Given the description of an element on the screen output the (x, y) to click on. 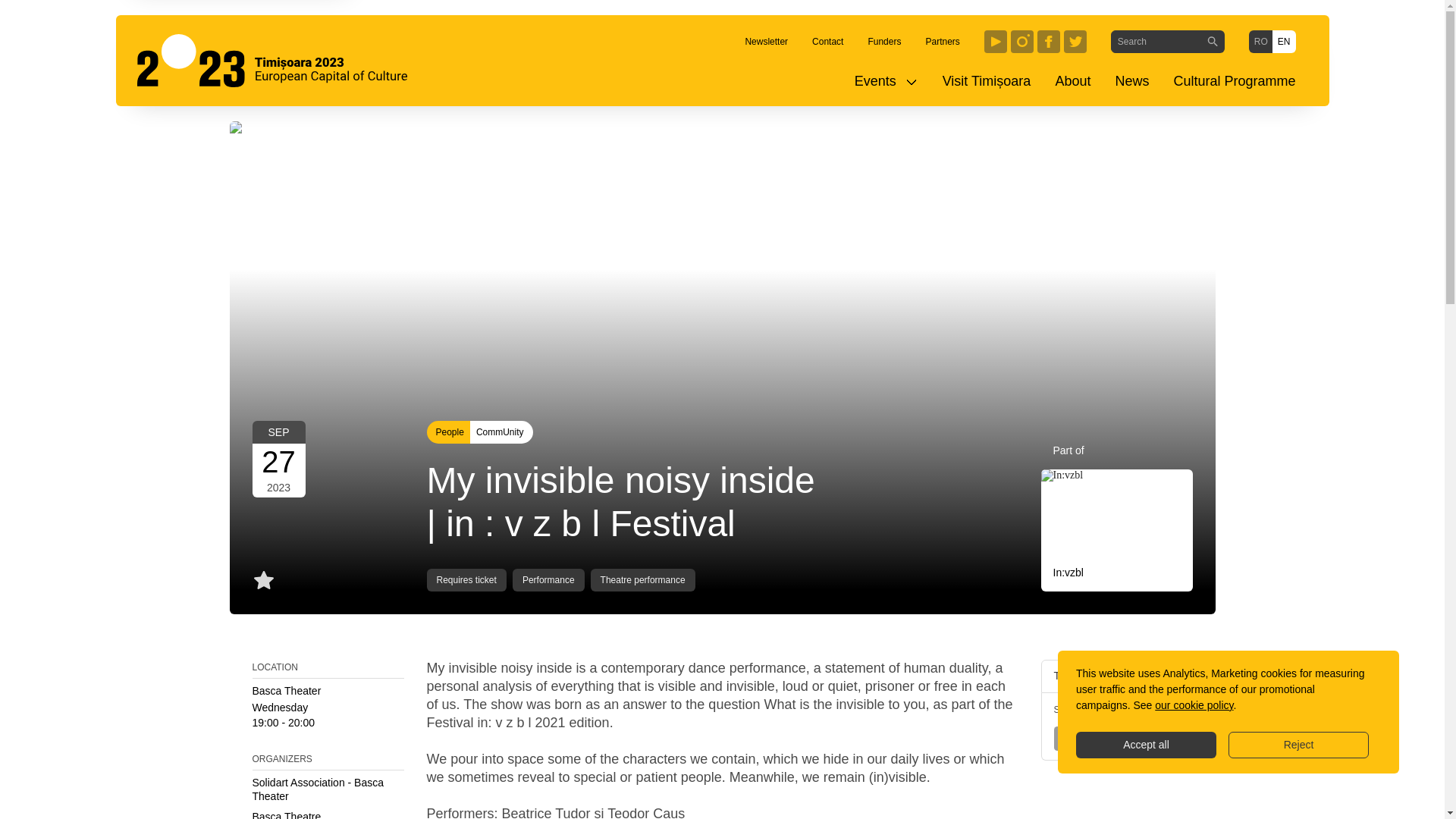
News (1131, 81)
RO (1260, 41)
our cookie policy (1193, 705)
Funders (884, 41)
Partners (941, 41)
EN (1283, 41)
Add to favorites (263, 579)
Contact (827, 41)
About (1072, 81)
Newsletter (765, 41)
